Given the description of an element on the screen output the (x, y) to click on. 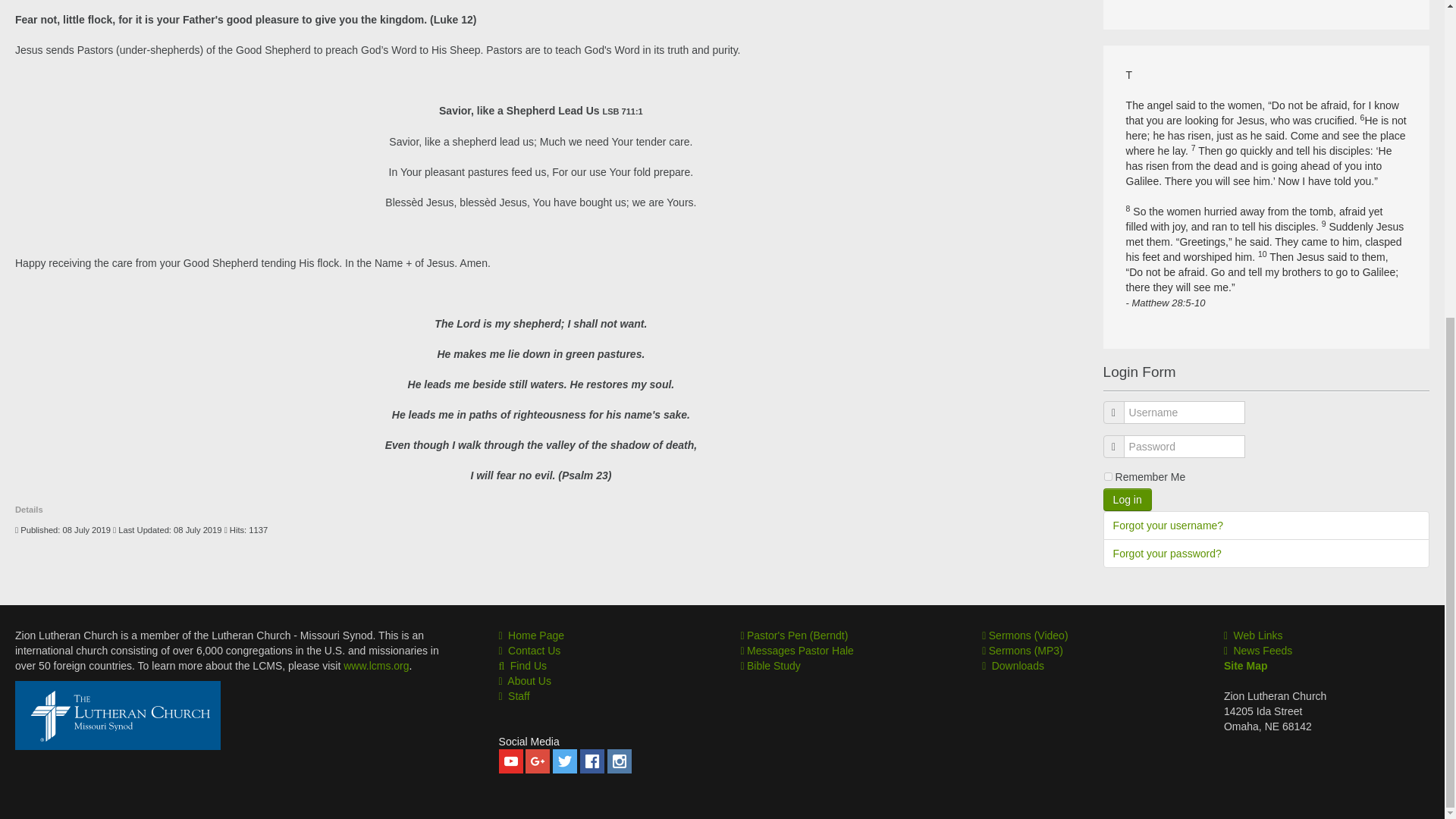
yes (1108, 476)
